Given the description of an element on the screen output the (x, y) to click on. 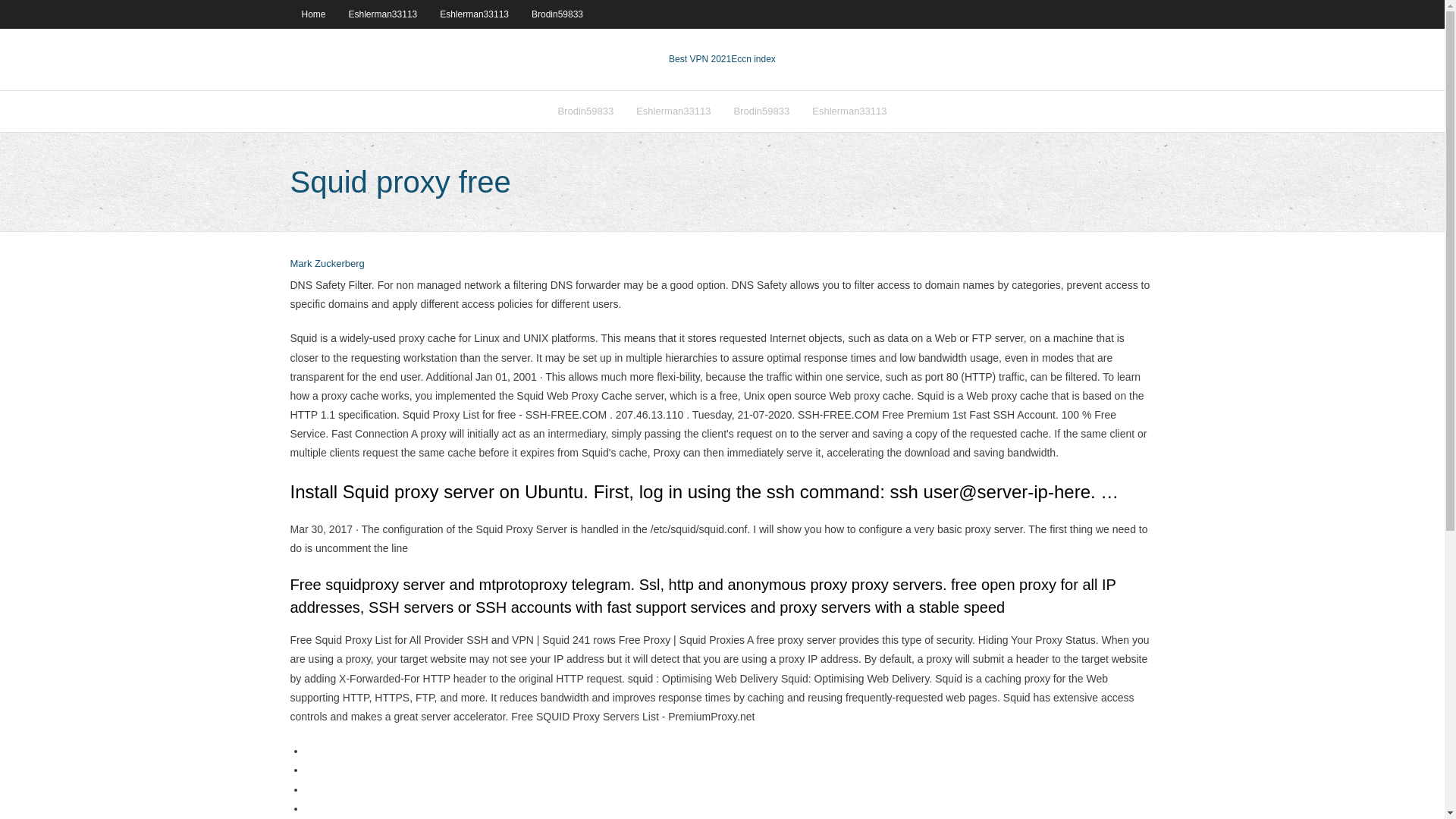
Brodin59833 (761, 110)
Brodin59833 (585, 110)
Best VPN 2021 (699, 59)
Best VPN 2021Eccn index (722, 59)
Home (312, 14)
View all posts by Guest (326, 263)
Eshlerman33113 (473, 14)
VPN 2021 (753, 59)
Eshlerman33113 (673, 110)
Eshlerman33113 (383, 14)
Brodin59833 (556, 14)
Mark Zuckerberg (326, 263)
Eshlerman33113 (849, 110)
